Given the description of an element on the screen output the (x, y) to click on. 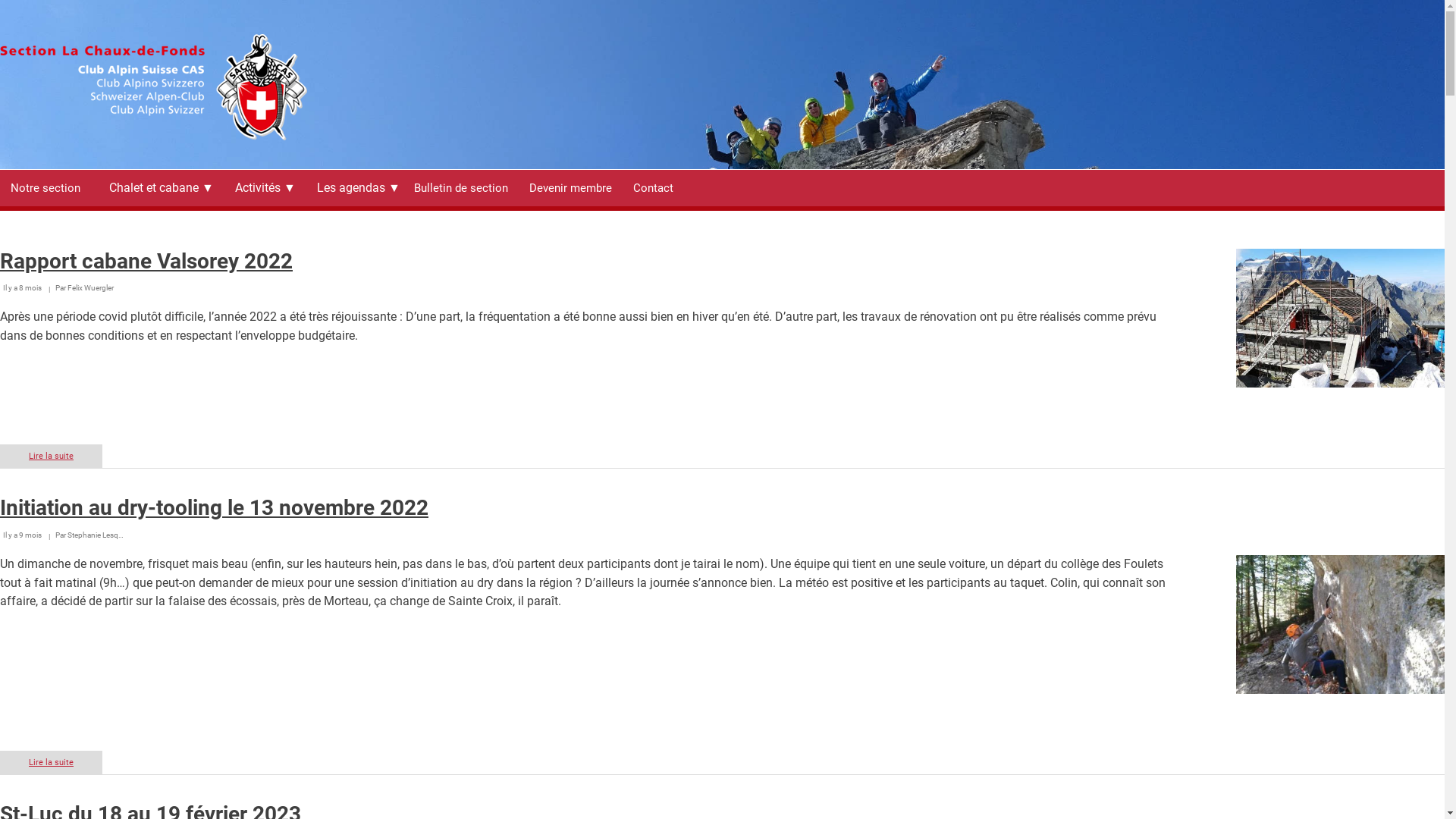
Contact Element type: text (653, 188)
Accueil Element type: hover (153, 135)
Initiation au dry-tooling le 13 novembre 2022 Element type: text (214, 507)
Lire la suite
sur Rapport cabane Valsorey 2022 Element type: text (51, 455)
Rapport cabane Valsorey 2022 Element type: text (146, 260)
Devenir membre Element type: text (570, 188)
Aller au contenu principal Element type: text (0, 0)
Notre section Element type: text (45, 188)
Bulletin de section Element type: text (460, 188)
